Given the description of an element on the screen output the (x, y) to click on. 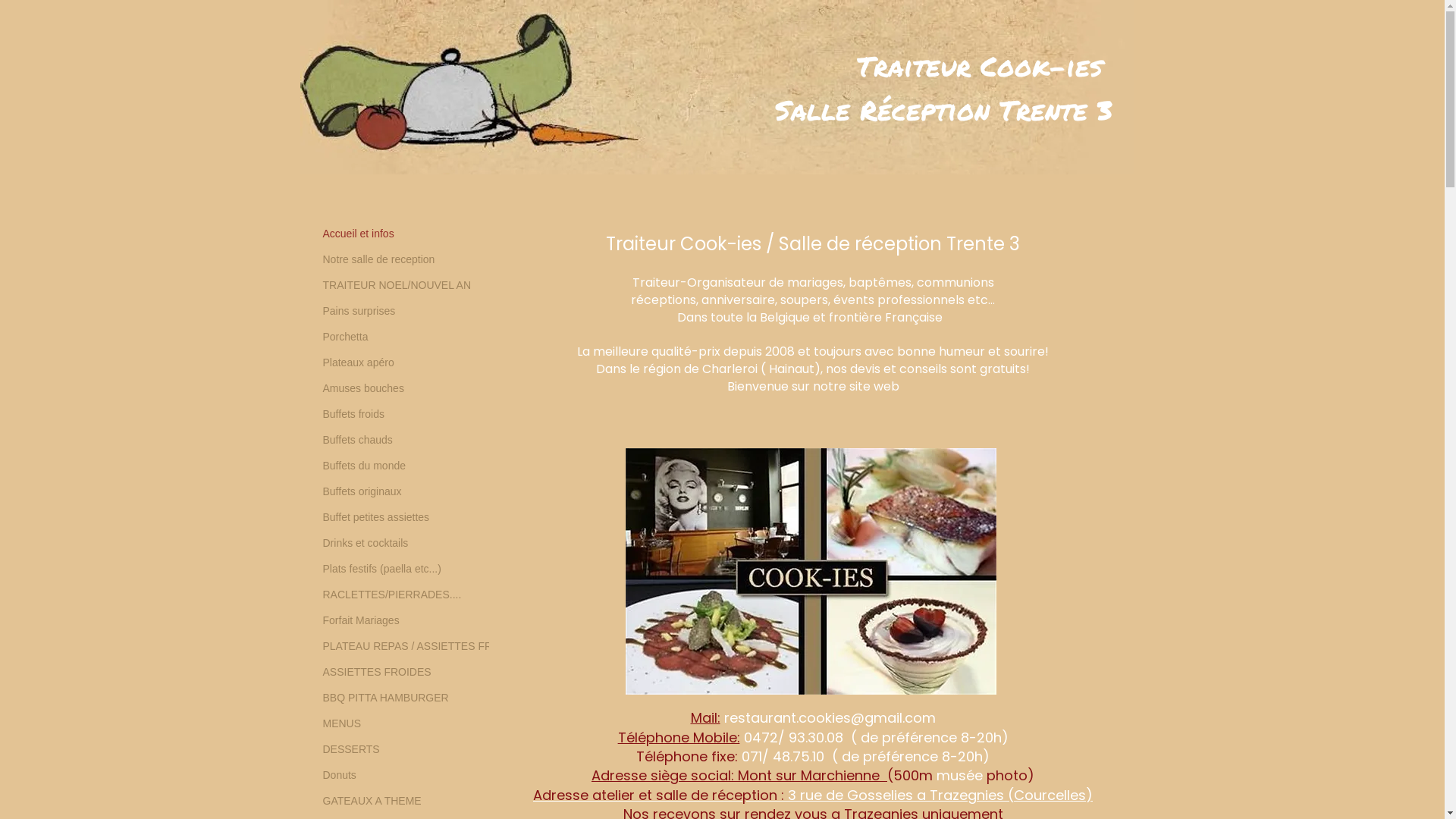
Drinks et cocktails Element type: text (365, 543)
Porchetta Element type: text (345, 336)
Plats festifs (paella etc...) Element type: text (381, 568)
PLATEAU REPAS / ASSIETTES FROIDES Element type: text (424, 646)
RACLETTES/PIERRADES.... Element type: text (392, 594)
Accueil et infos Element type: text (358, 233)
Buffets du monde Element type: text (364, 465)
Pains surprises Element type: text (359, 311)
DESSERTS Element type: text (351, 749)
Forfait Mariages Element type: text (361, 620)
ASSIETTES FROIDES Element type: text (377, 672)
Buffets froids Element type: text (353, 414)
TRAITEUR NOEL/NOUVEL AN Element type: text (397, 285)
Buffets chauds Element type: text (357, 439)
MENUS Element type: text (342, 723)
Buffet petites assiettes Element type: text (376, 517)
BBQ PITTA HAMBURGER Element type: text (385, 697)
Amuses bouches Element type: text (363, 388)
Buffets originaux Element type: text (362, 491)
restaurant.cookies@gmail.com Element type: text (829, 717)
Notre salle de reception Element type: text (378, 259)
GATEAUX A THEME Element type: text (372, 800)
Donuts Element type: text (339, 775)
